Given the description of an element on the screen output the (x, y) to click on. 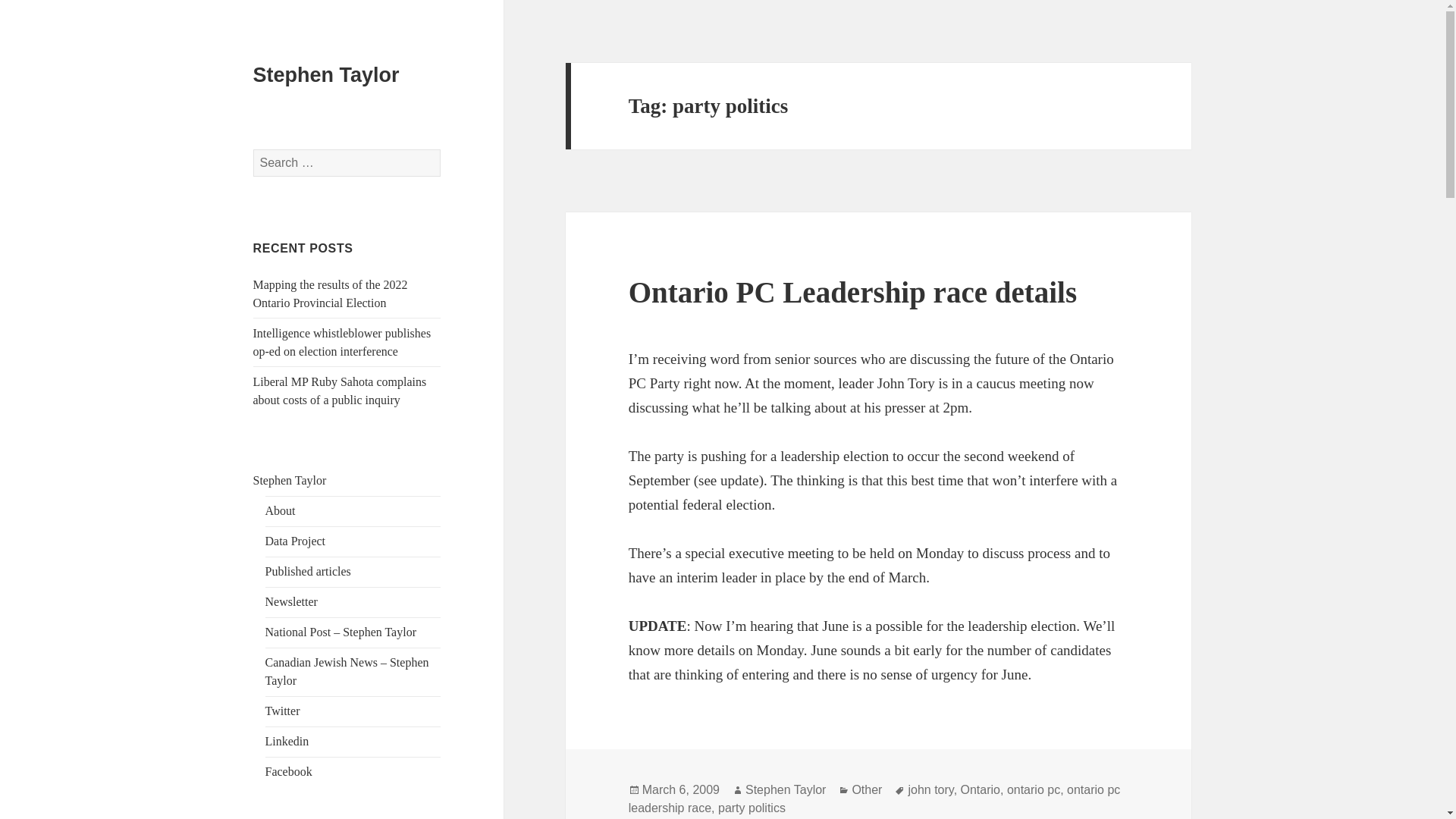
Other (866, 789)
ontario pc (1033, 789)
About (279, 510)
Newsletter (290, 601)
john tory (930, 789)
Stephen Taylor (325, 74)
party politics (751, 807)
Published articles (307, 571)
Mapping the results of the 2022 Ontario Provincial Election (330, 293)
Ontario (980, 789)
Data Project (295, 540)
Linkedin (286, 740)
